Given the description of an element on the screen output the (x, y) to click on. 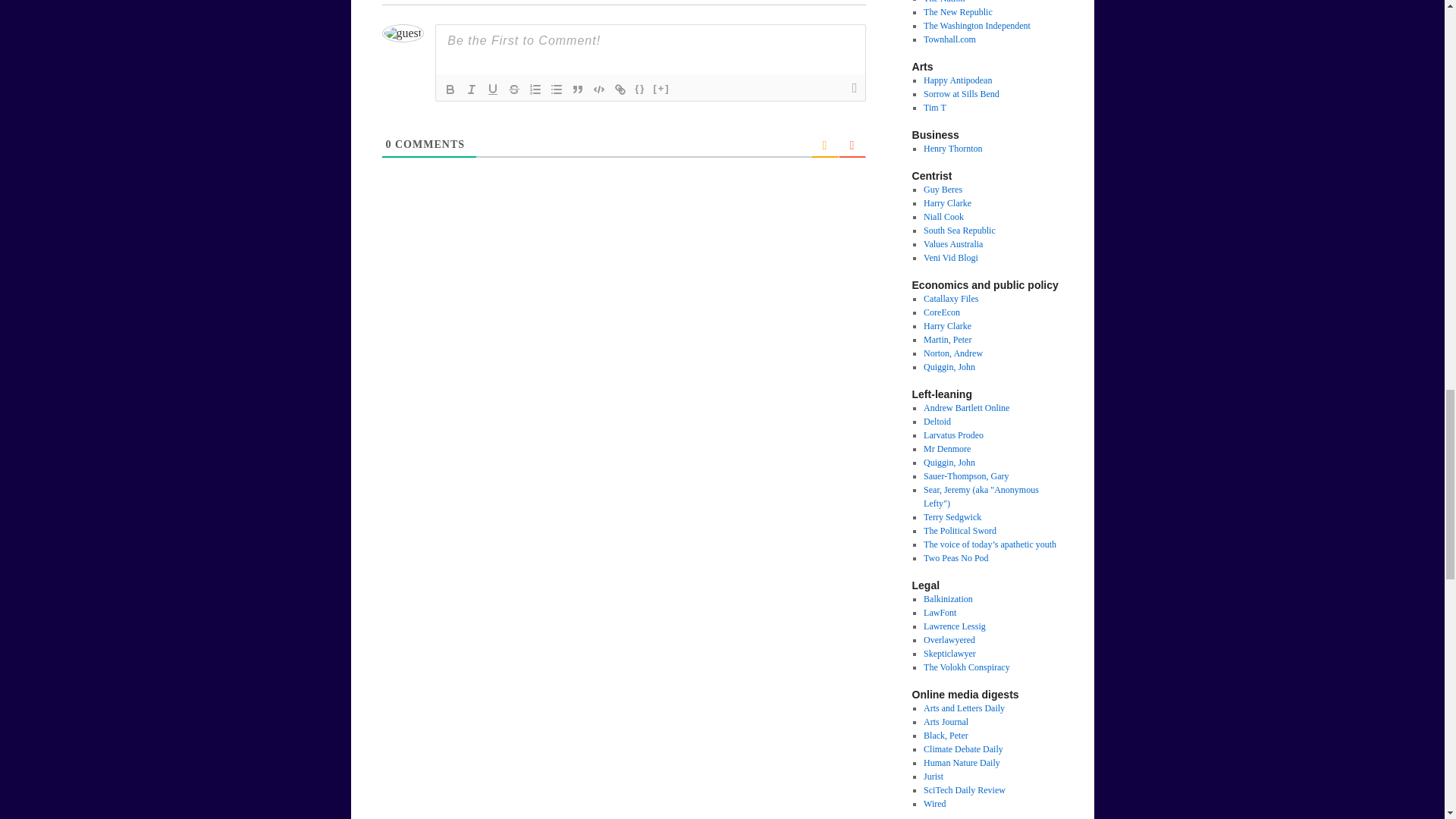
Bold (450, 89)
bullet (556, 89)
ordered (535, 89)
Underline (492, 89)
Italic (471, 89)
